Given the description of an element on the screen output the (x, y) to click on. 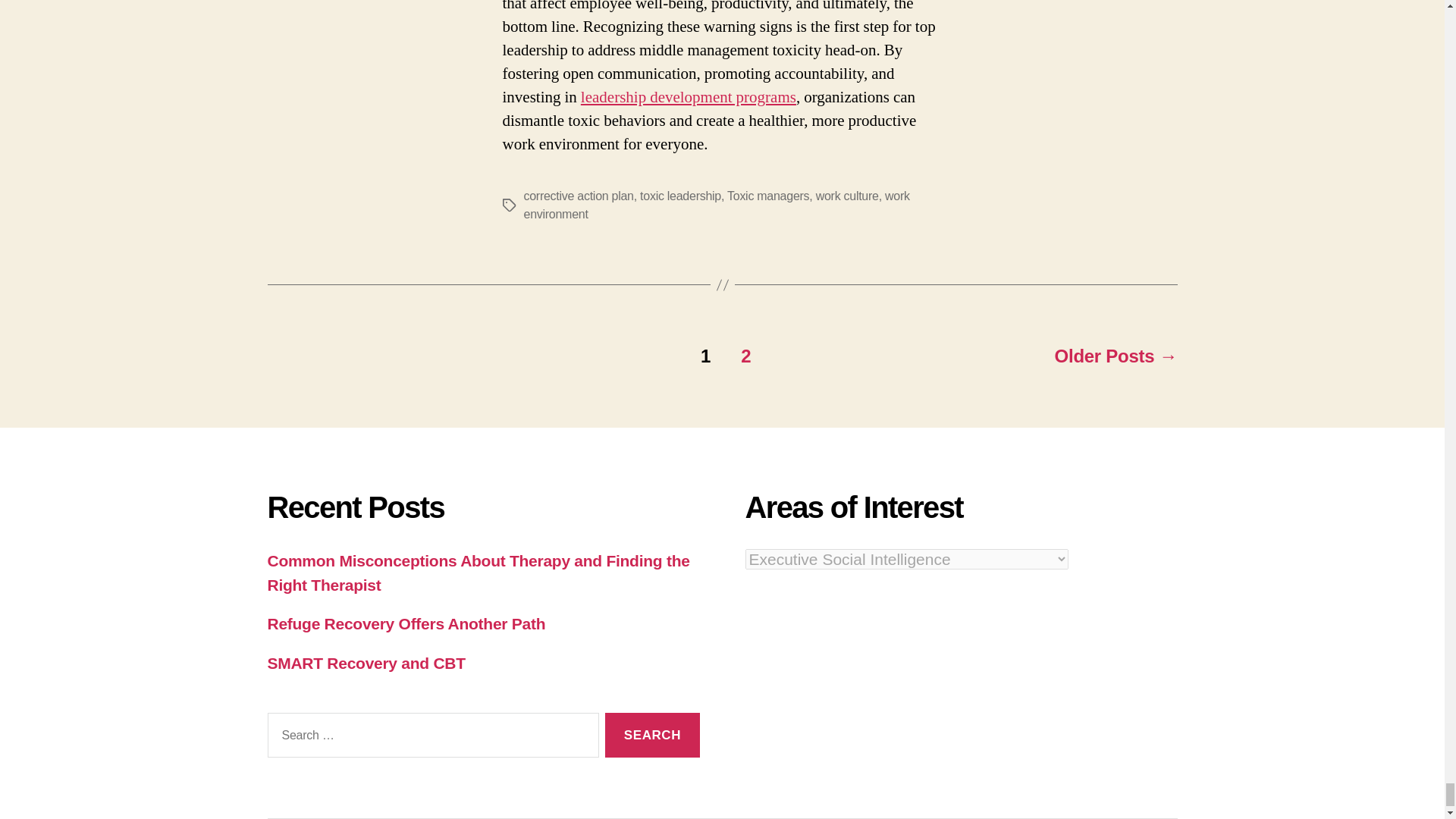
Search (651, 734)
Search (651, 734)
